Given the description of an element on the screen output the (x, y) to click on. 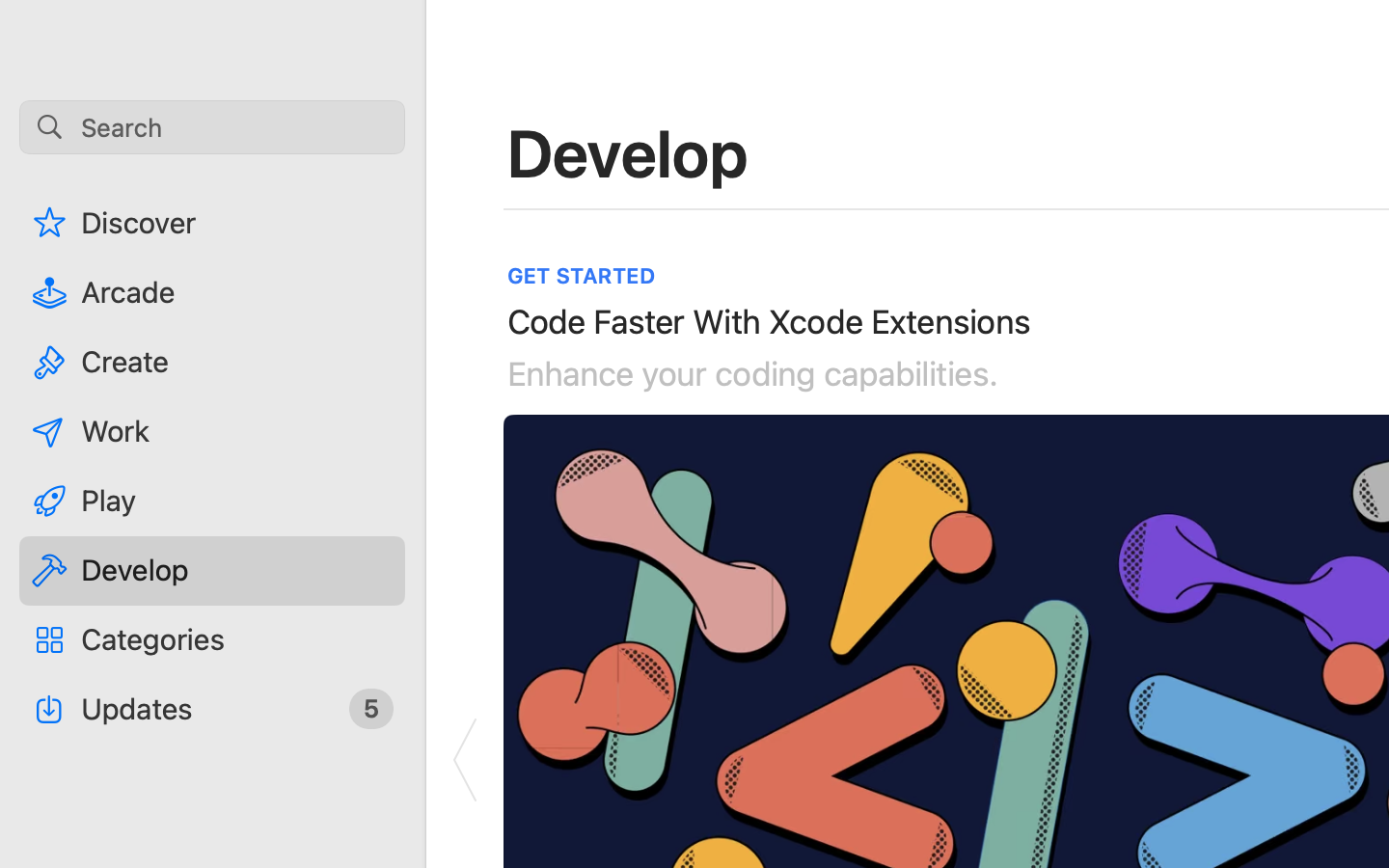
Develop Element type: AXStaticText (628, 151)
